Given the description of an element on the screen output the (x, y) to click on. 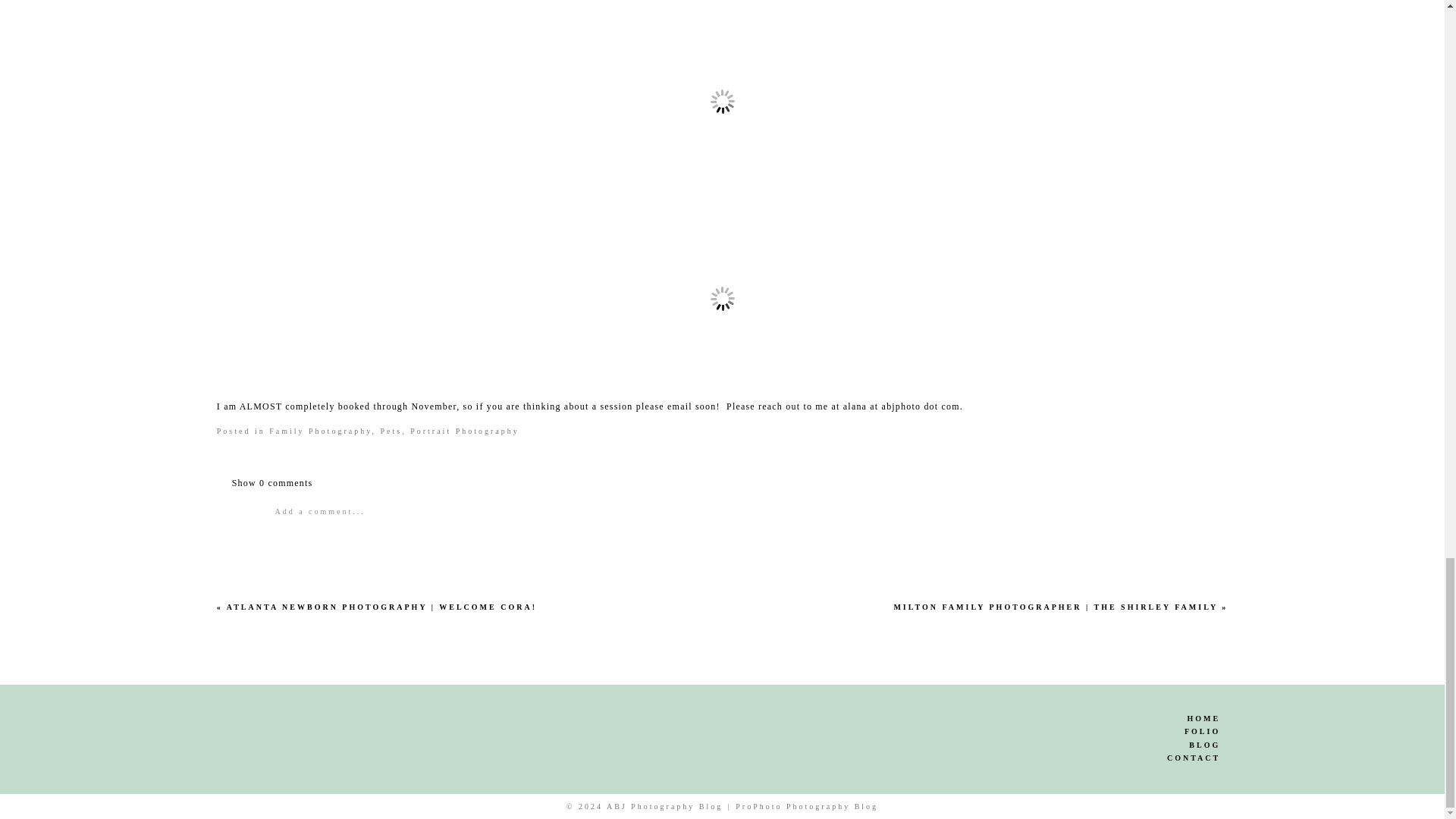
BLOG (1059, 745)
Portrait Photography (464, 430)
ProPhoto Photography Blog (806, 806)
FOLIO (1059, 731)
CONTACT (1059, 758)
Pets (391, 430)
Family Photography (320, 430)
HOME (1059, 718)
ProPhoto theme (806, 806)
Show 0 comments (272, 482)
